Given the description of an element on the screen output the (x, y) to click on. 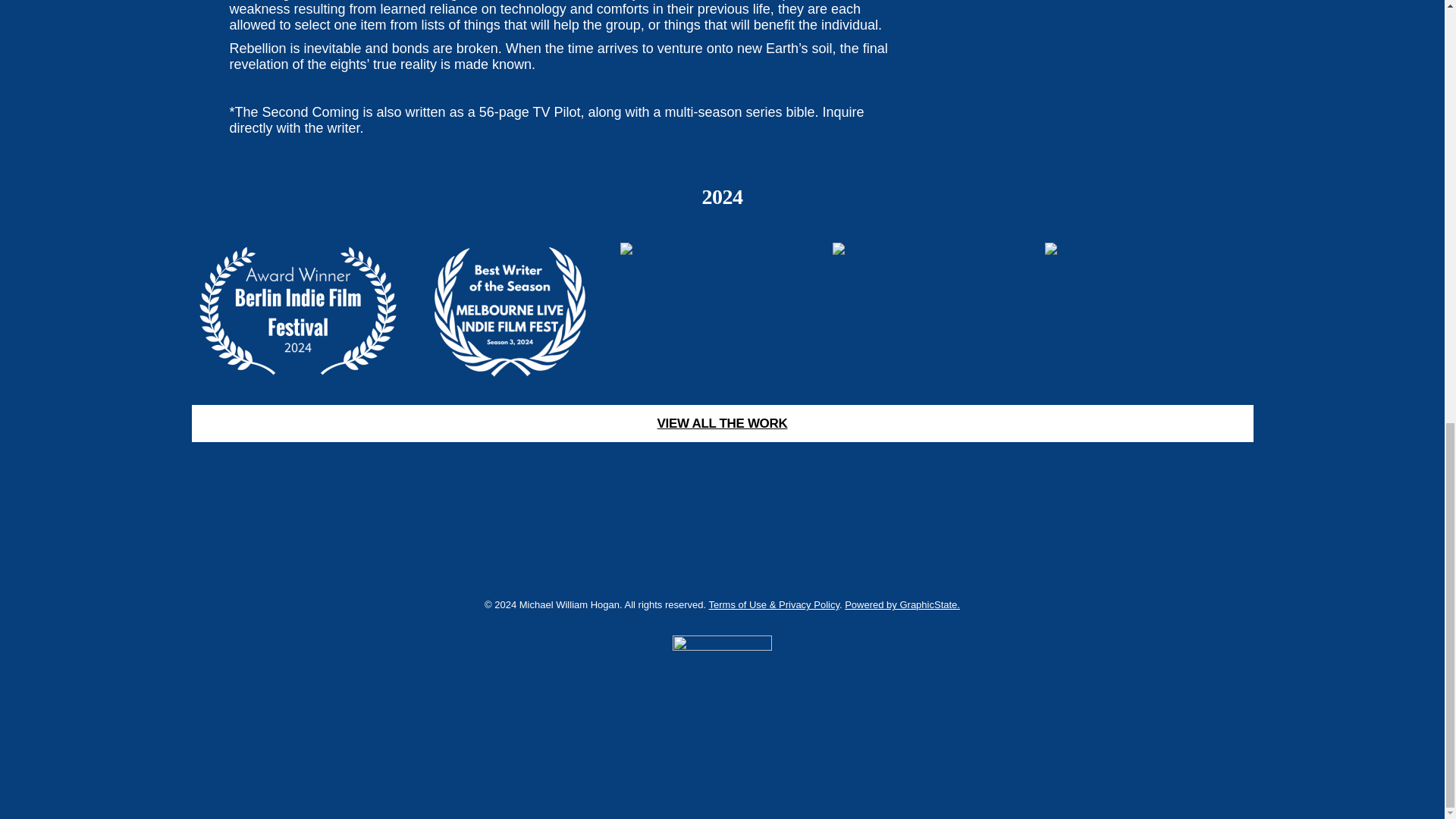
2024-bestfeature (1147, 310)
VIEW ALL THE WORK (721, 423)
2024-bestsocialscreenplay (722, 310)
Powered by GraphicState. (901, 604)
2024-bestwriter (509, 310)
